Given the description of an element on the screen output the (x, y) to click on. 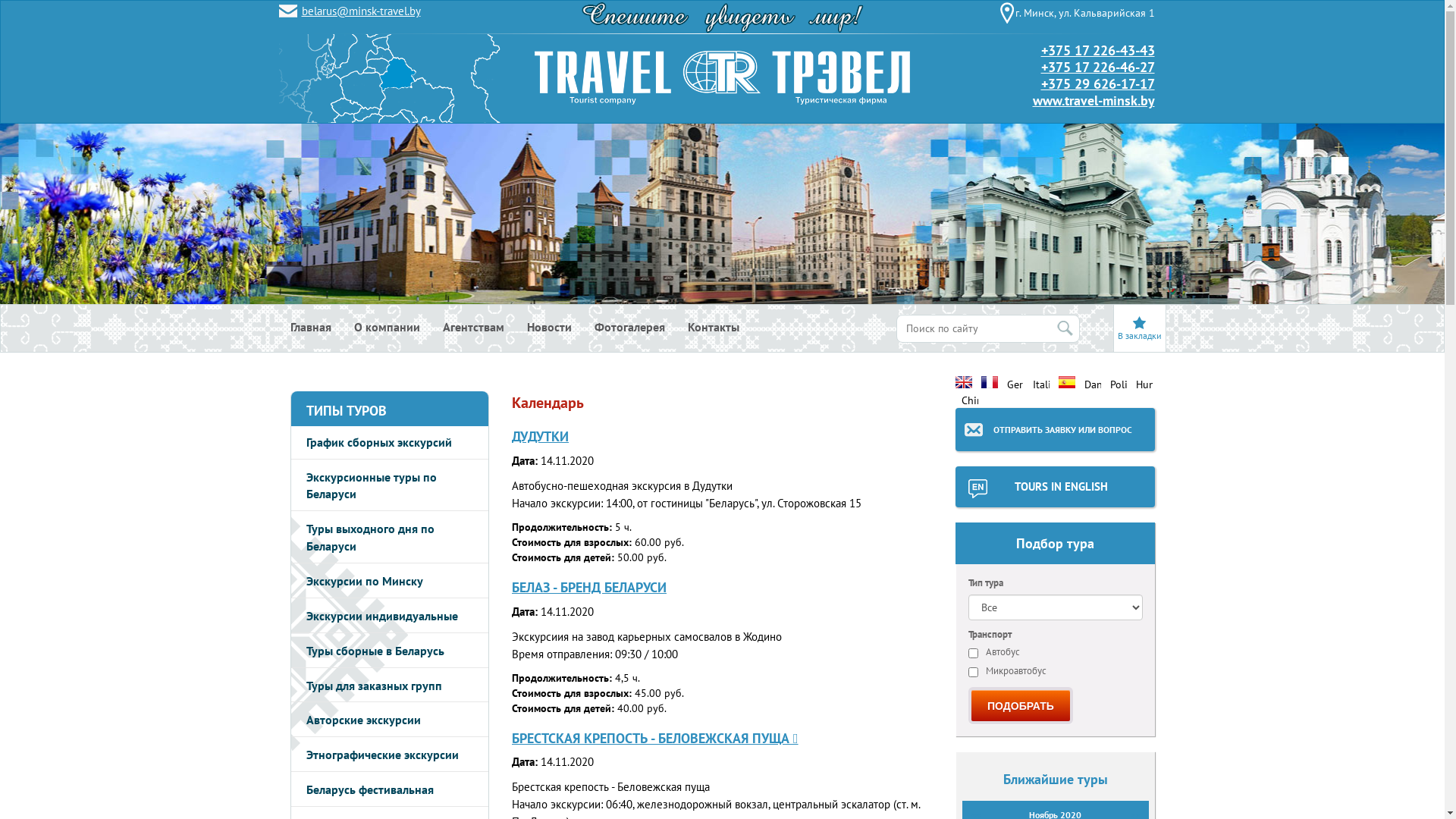
ru|it Element type: text (1040, 382)
ru|fr Element type: text (989, 382)
+375 17 226-43-43 Element type: text (1097, 50)
www.travel-minsk.by Element type: text (1093, 100)
ru|zh Element type: text (969, 398)
English Element type: hover (963, 382)
Italian Element type: hover (1040, 382)
belarus@minsk-travel.by Element type: text (360, 10)
+375 17 226-46-27 Element type: text (1097, 66)
ru|es Element type: text (1066, 382)
French Element type: hover (989, 382)
German Element type: hover (1015, 382)
ru|da Element type: text (1092, 382)
ru|en Element type: text (963, 382)
ru|de Element type: text (1015, 382)
Chinese Element type: hover (969, 398)
Spain Element type: hover (1066, 382)
+375 29 626-17-17 Element type: text (1097, 83)
Polish Element type: hover (1118, 382)
ru|hu Element type: text (1143, 382)
Danish Element type: hover (1092, 382)
Hungarian Element type: hover (1143, 382)
ru|pl Element type: text (1118, 382)
TOURS IN ENGLISH Element type: text (1054, 486)
